Given the description of an element on the screen output the (x, y) to click on. 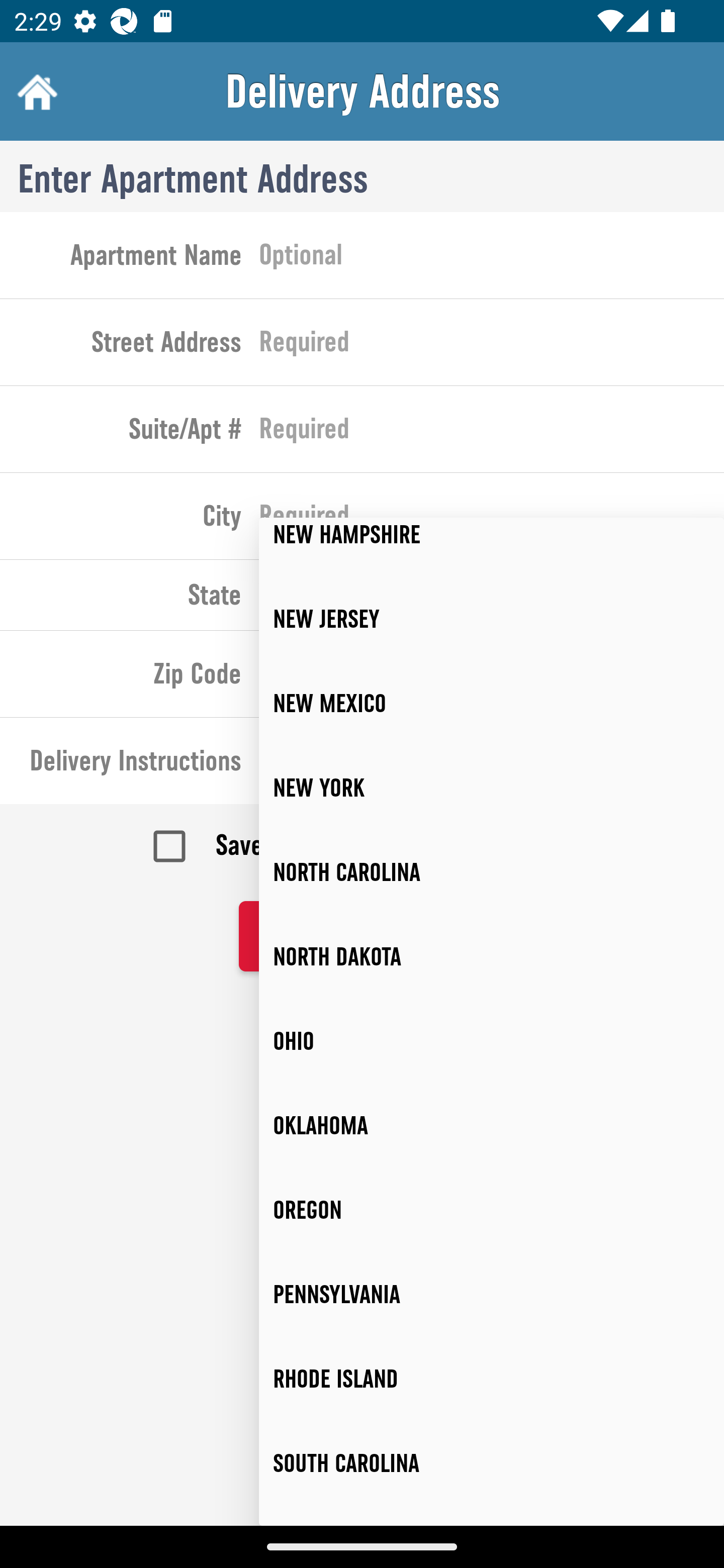
NEW HAMPSHIRE (491, 547)
NEW JERSEY (491, 619)
NEW MEXICO (491, 703)
NEW YORK (491, 787)
NORTH CAROLINA (491, 871)
NORTH DAKOTA (491, 956)
OHIO (491, 1040)
OKLAHOMA (491, 1125)
OREGON (491, 1210)
PENNSYLVANIA (491, 1294)
RHODE ISLAND (491, 1378)
SOUTH CAROLINA (491, 1462)
